Given the description of an element on the screen output the (x, y) to click on. 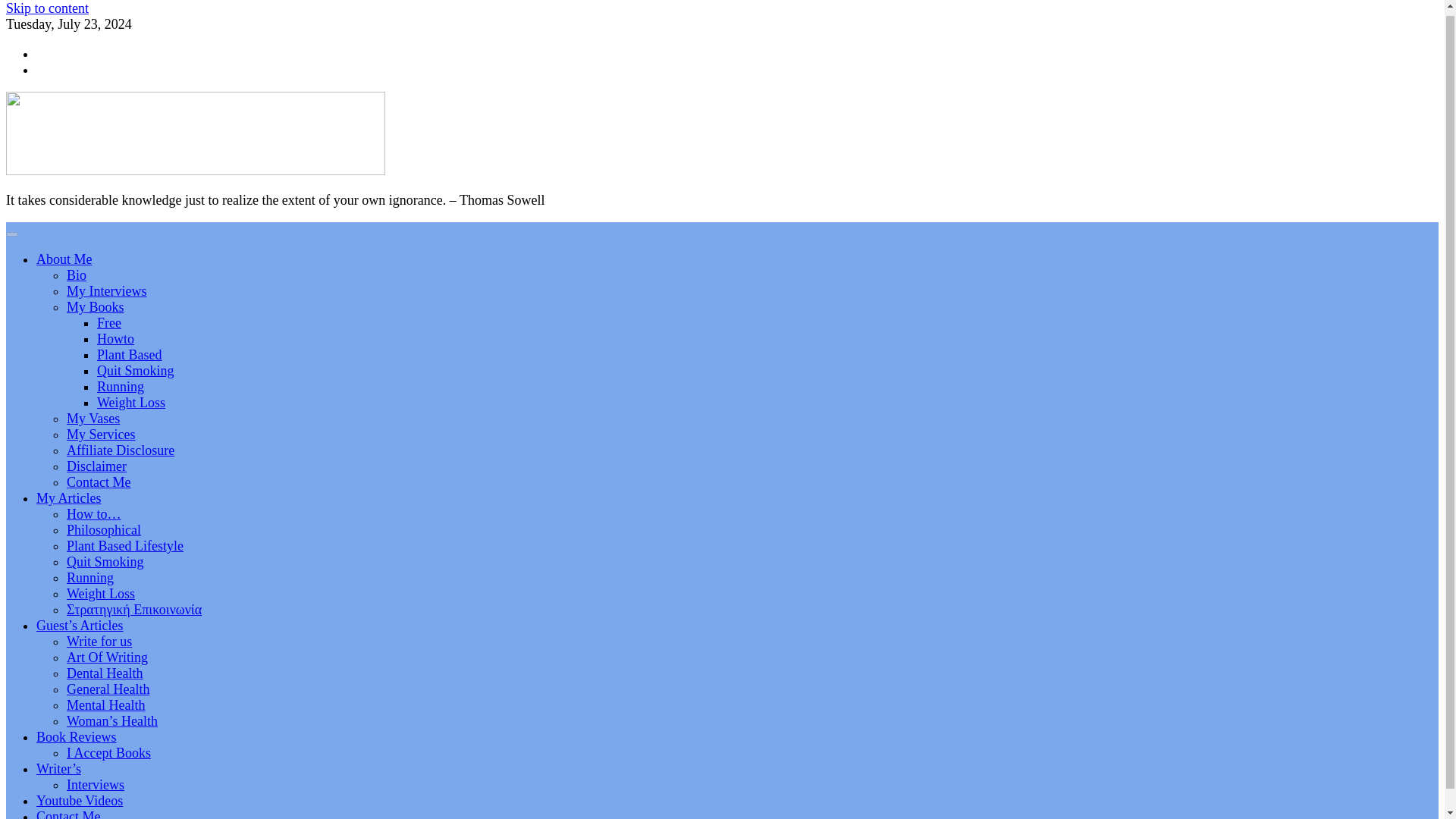
Quit Smoking (135, 370)
Mental Health (105, 704)
Plant Based Lifestyle (124, 545)
Free (108, 322)
Book Reviews (76, 736)
Disclaimer (96, 466)
My Vases (92, 418)
Contact Me (98, 482)
Running (120, 386)
Quit Smoking (105, 561)
Skip to content (46, 7)
I Accept Books (108, 752)
Art Of Writing (107, 657)
Running (89, 577)
Plant Based (129, 354)
